Given the description of an element on the screen output the (x, y) to click on. 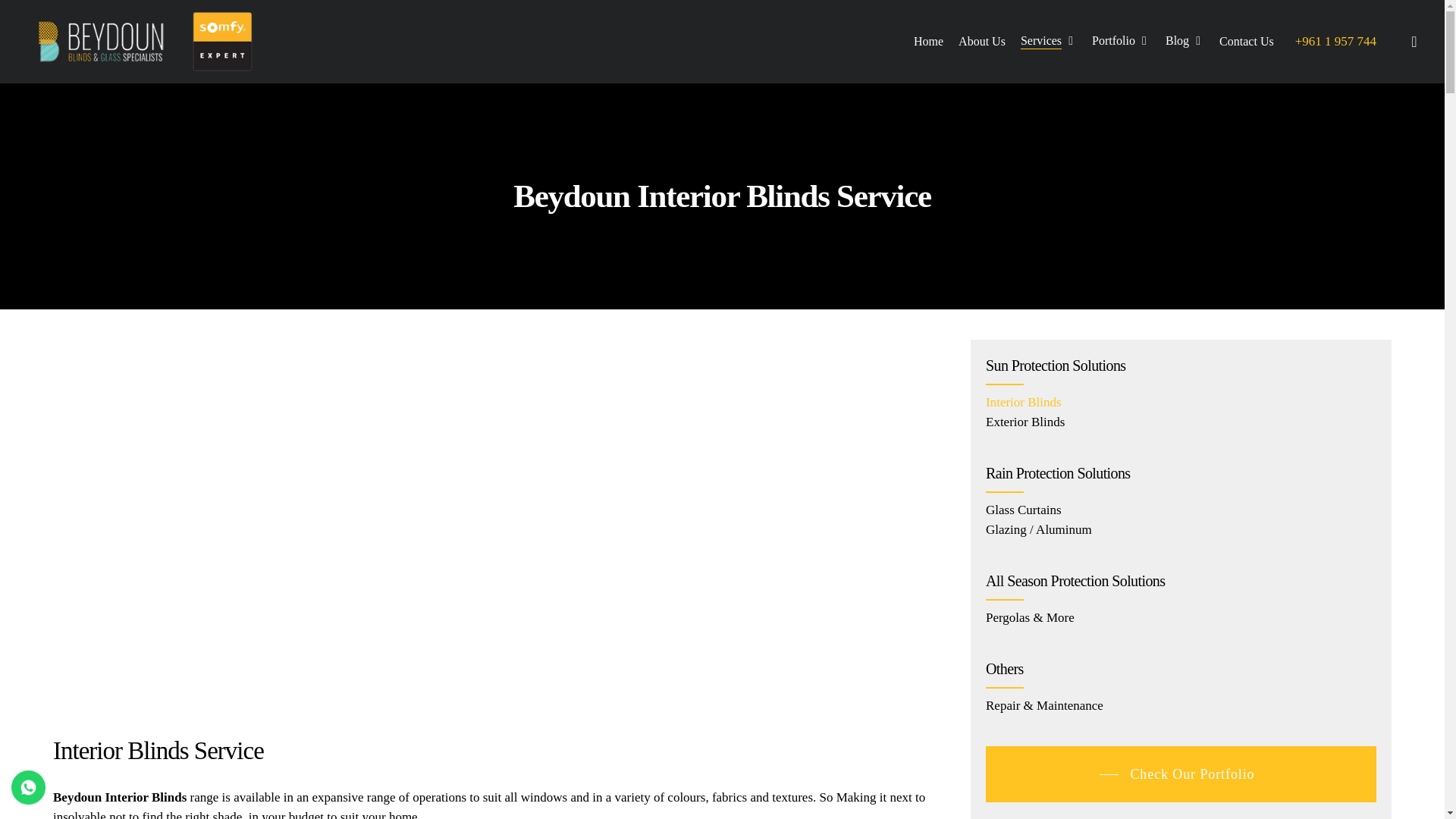
Home (928, 41)
Glass Curtains (1023, 509)
Exterior Blinds (1024, 421)
About Us (982, 41)
Glasses, Aluminium And Blinds Repair And Maintenance (1044, 705)
Portfolio (1121, 41)
Interior Blinds (1023, 401)
Chat with us on whatsapp (28, 799)
Services (1048, 41)
